Given the description of an element on the screen output the (x, y) to click on. 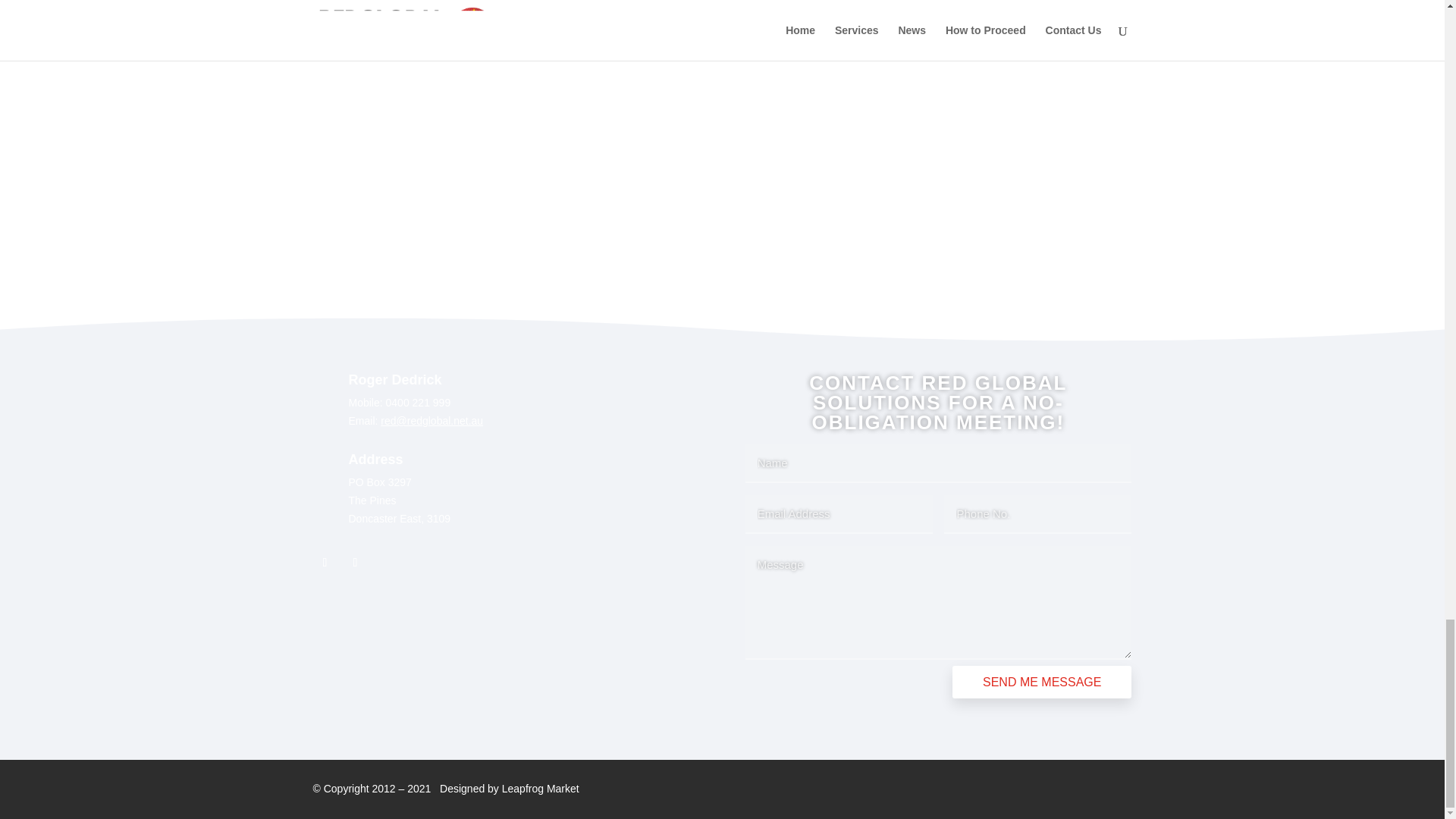
Designed by Leapfrog Market (509, 788)
SEND ME MESSAGE (1041, 681)
Follow on LinkedIn (354, 562)
Follow on Facebook (324, 562)
